Given the description of an element on the screen output the (x, y) to click on. 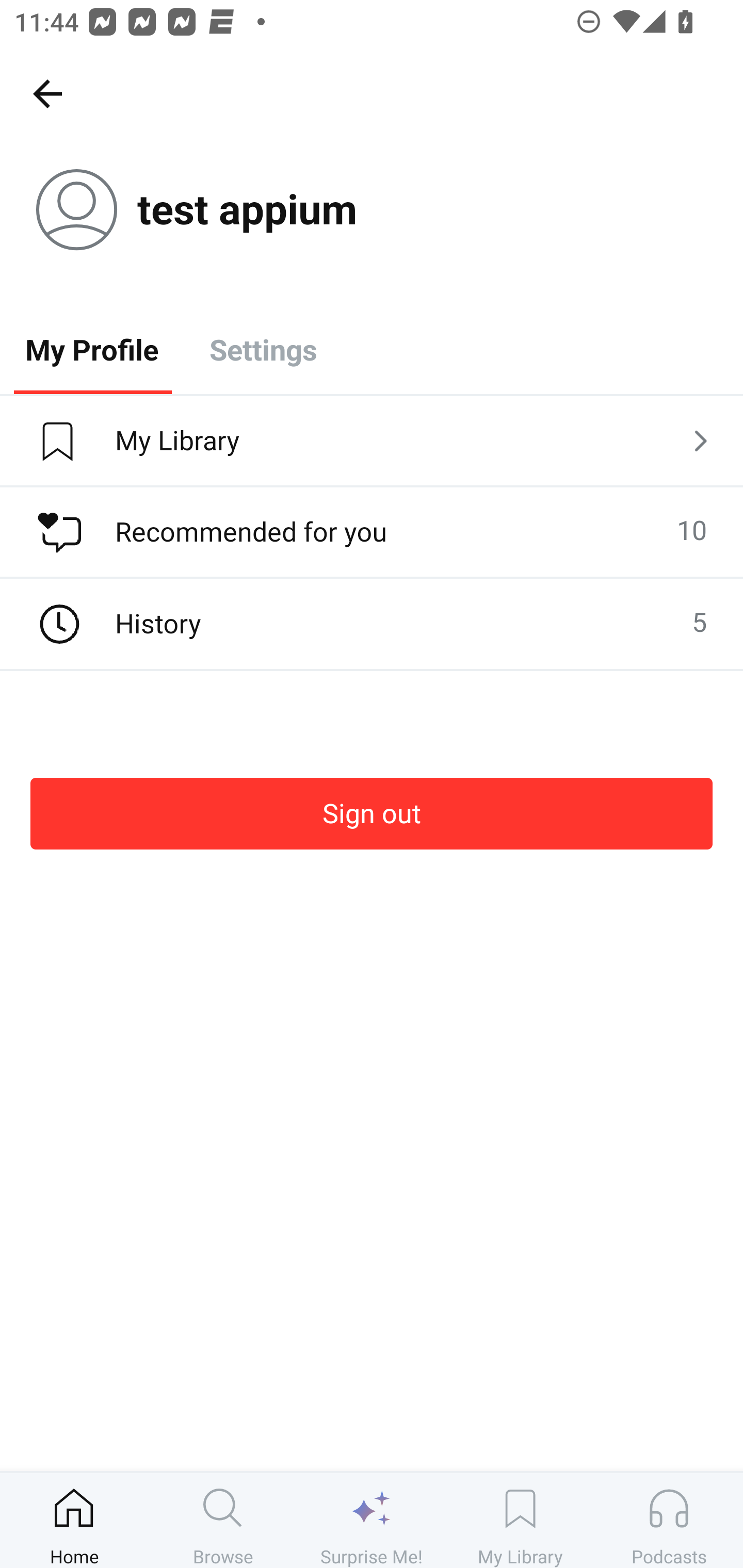
Home, back (47, 92)
My Profile (92, 348)
Settings (263, 348)
My Library (371, 441)
Recommended for you 10 (371, 532)
History 5 (371, 623)
Sign out (371, 813)
Home (74, 1520)
Browse (222, 1520)
Surprise Me! (371, 1520)
My Library (519, 1520)
Podcasts (668, 1520)
